Given the description of an element on the screen output the (x, y) to click on. 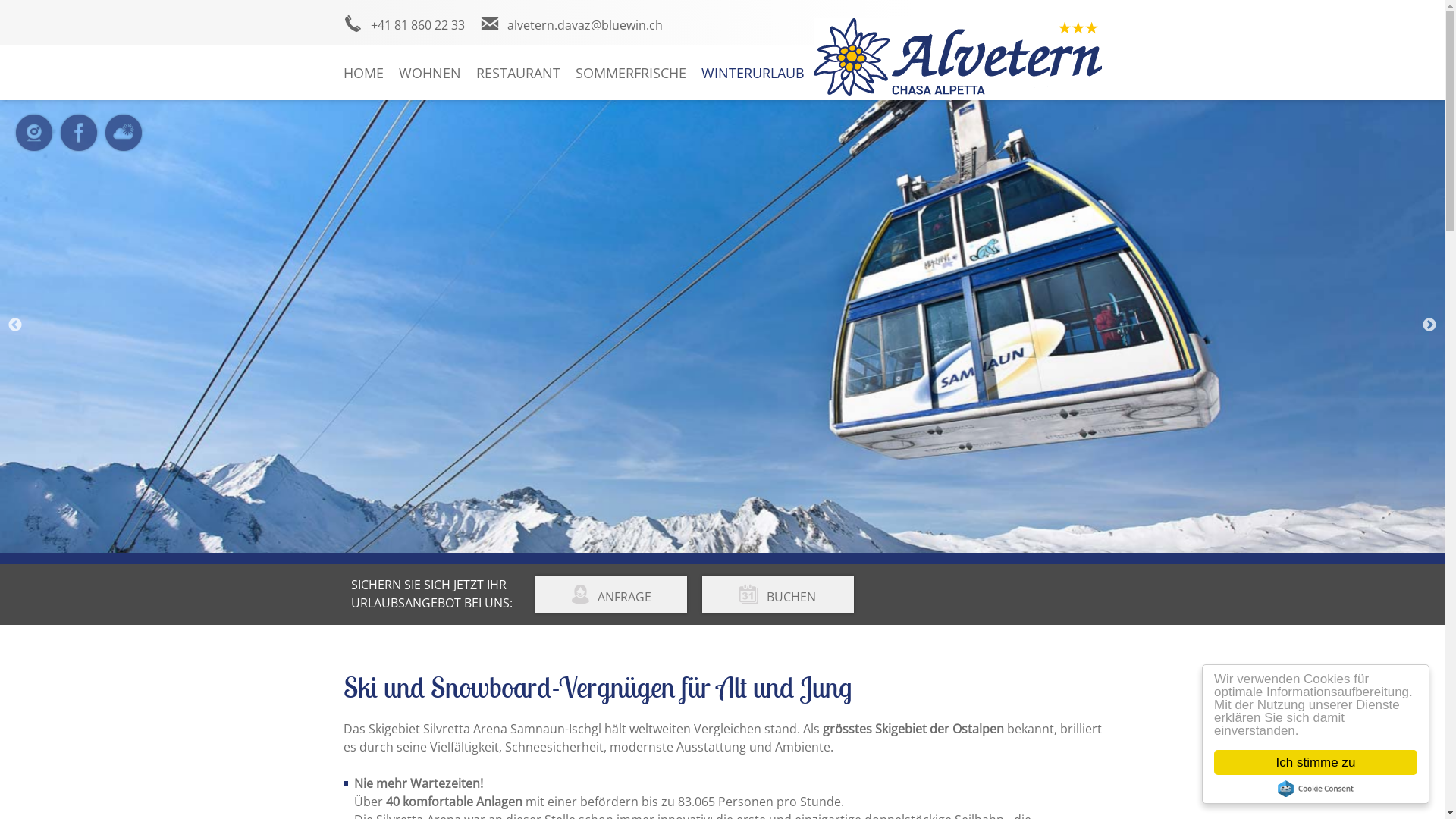
Wetter Element type: hover (126, 142)
BUCHEN Element type: text (777, 594)
WINTERURLAUB Element type: text (751, 72)
WOHNEN Element type: text (429, 72)
Facebook Element type: hover (81, 142)
SOMMERFRISCHE Element type: text (629, 72)
+41 81 860 22 33 Element type: text (403, 24)
HOME Element type: text (362, 72)
alvetern.davaz@bluewin.ch Element type: text (570, 24)
Webcam Element type: hover (37, 142)
Ich stimme zu Element type: text (1315, 762)
RESTAURANT Element type: text (518, 72)
Next Element type: text (1429, 324)
Previous Element type: text (14, 324)
ANFRAGE Element type: text (611, 594)
Cookie Consent plugin for the EU cookie law Element type: text (1315, 788)
